Given the description of an element on the screen output the (x, y) to click on. 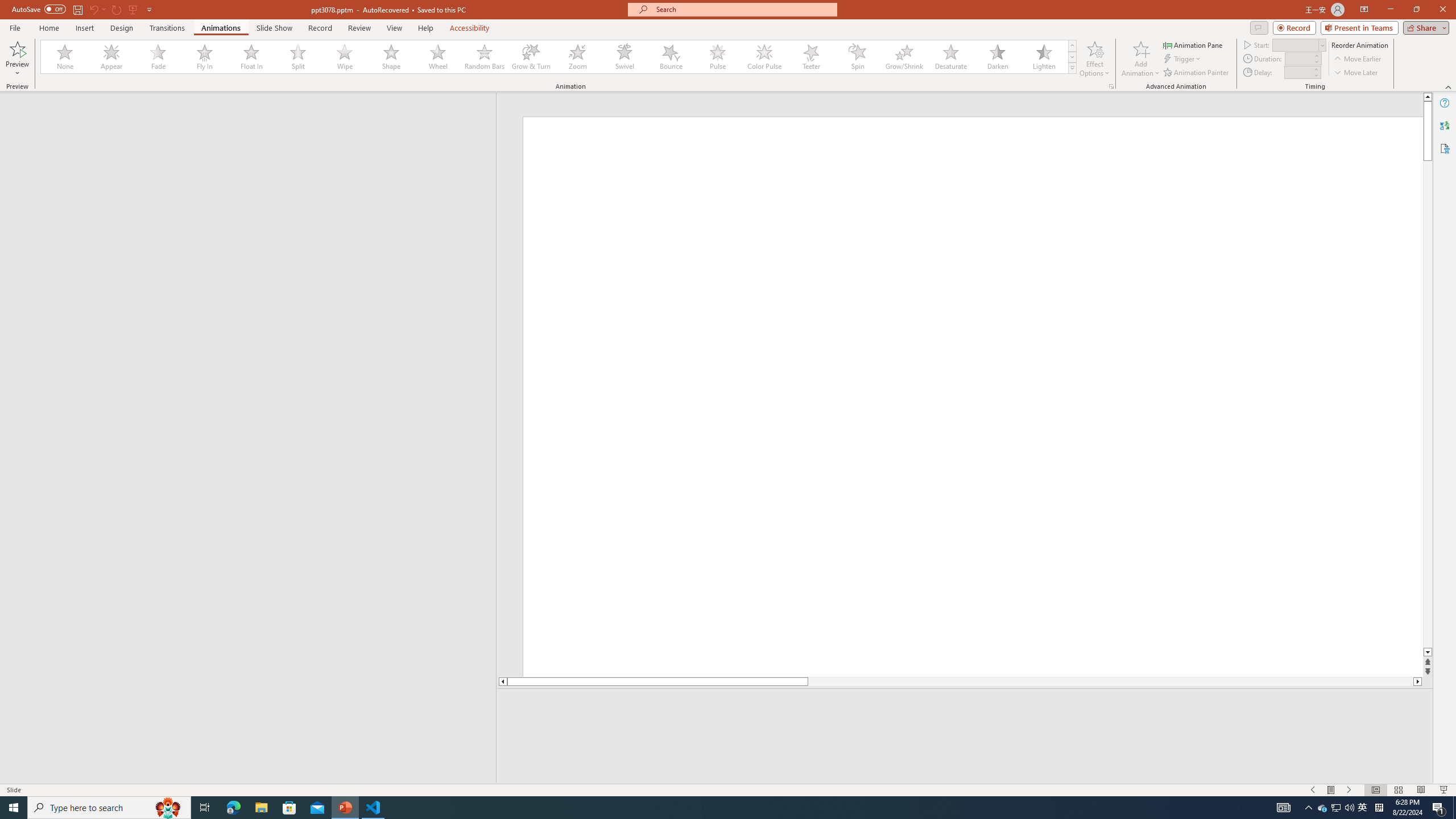
Fade (158, 56)
